Given the description of an element on the screen output the (x, y) to click on. 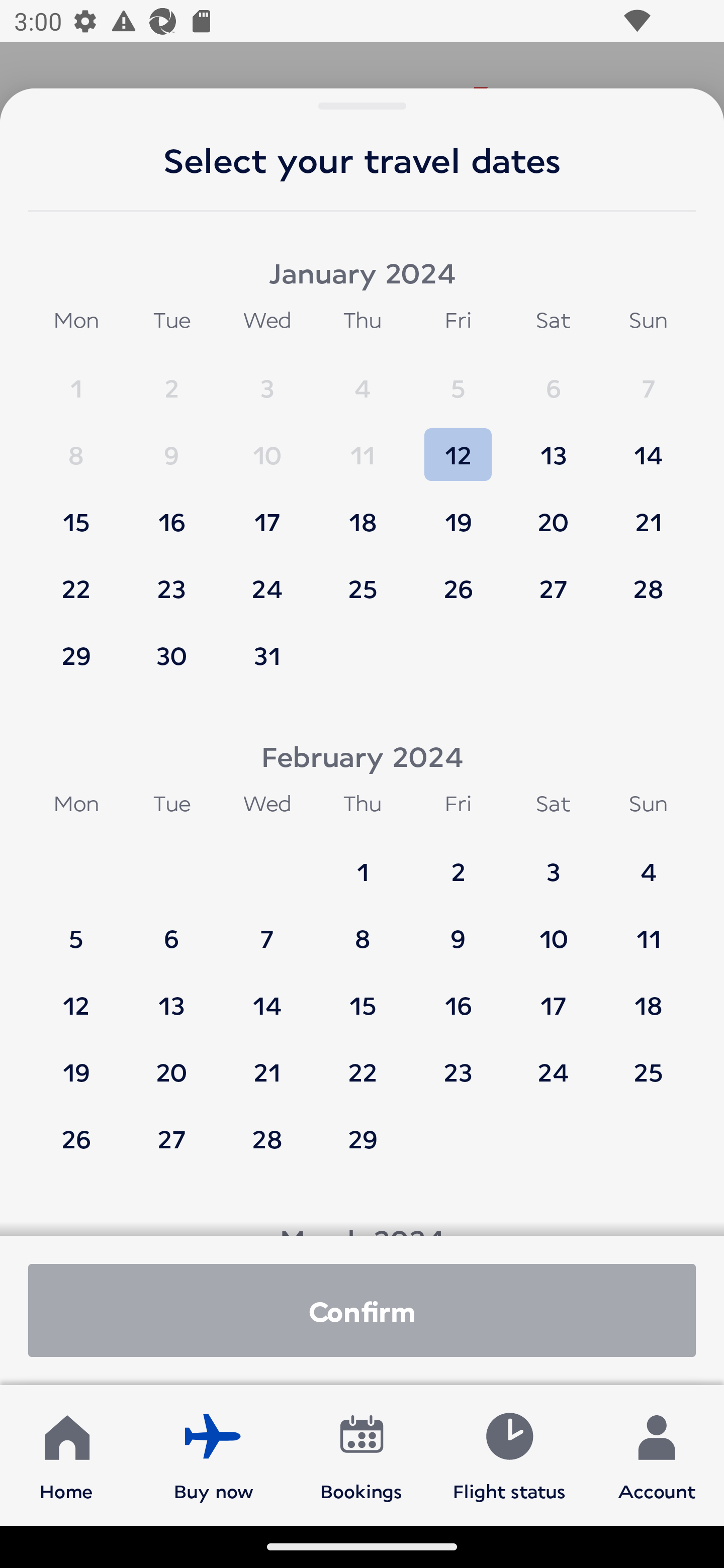
Close sheet (362, 43)
1 (75, 379)
2 (171, 379)
3 (266, 379)
4 (362, 379)
5 (458, 379)
6 (553, 379)
7 (647, 379)
8 (75, 445)
9 (171, 445)
10 (266, 445)
11 (362, 445)
12 (458, 445)
13 (553, 445)
14 (647, 445)
15 (75, 512)
16 (171, 512)
17 (266, 512)
18 (362, 512)
19 (458, 512)
20 (553, 512)
21 (647, 512)
22 (75, 579)
23 (171, 579)
24 (266, 579)
25 (362, 579)
26 (458, 579)
27 (553, 579)
28 (647, 579)
29 (75, 655)
30 (171, 655)
31 (266, 655)
1 (362, 862)
2 (458, 862)
3 (553, 862)
4 (647, 862)
5 (75, 928)
6 (171, 928)
7 (266, 928)
8 (362, 928)
9 (458, 928)
10 (553, 928)
11 (647, 928)
12 (75, 996)
13 (171, 996)
14 (266, 996)
15 (362, 996)
16 (458, 996)
17 (553, 996)
18 (647, 996)
19 (75, 1063)
20 (171, 1063)
21 (266, 1063)
22 (362, 1063)
23 (458, 1063)
24 (553, 1063)
25 (647, 1063)
26 (75, 1138)
27 (171, 1138)
28 (266, 1138)
29 (362, 1138)
Confirm (361, 1309)
Home (66, 1454)
Bookings (361, 1454)
Flight status (509, 1454)
Account (657, 1454)
